Given the description of an element on the screen output the (x, y) to click on. 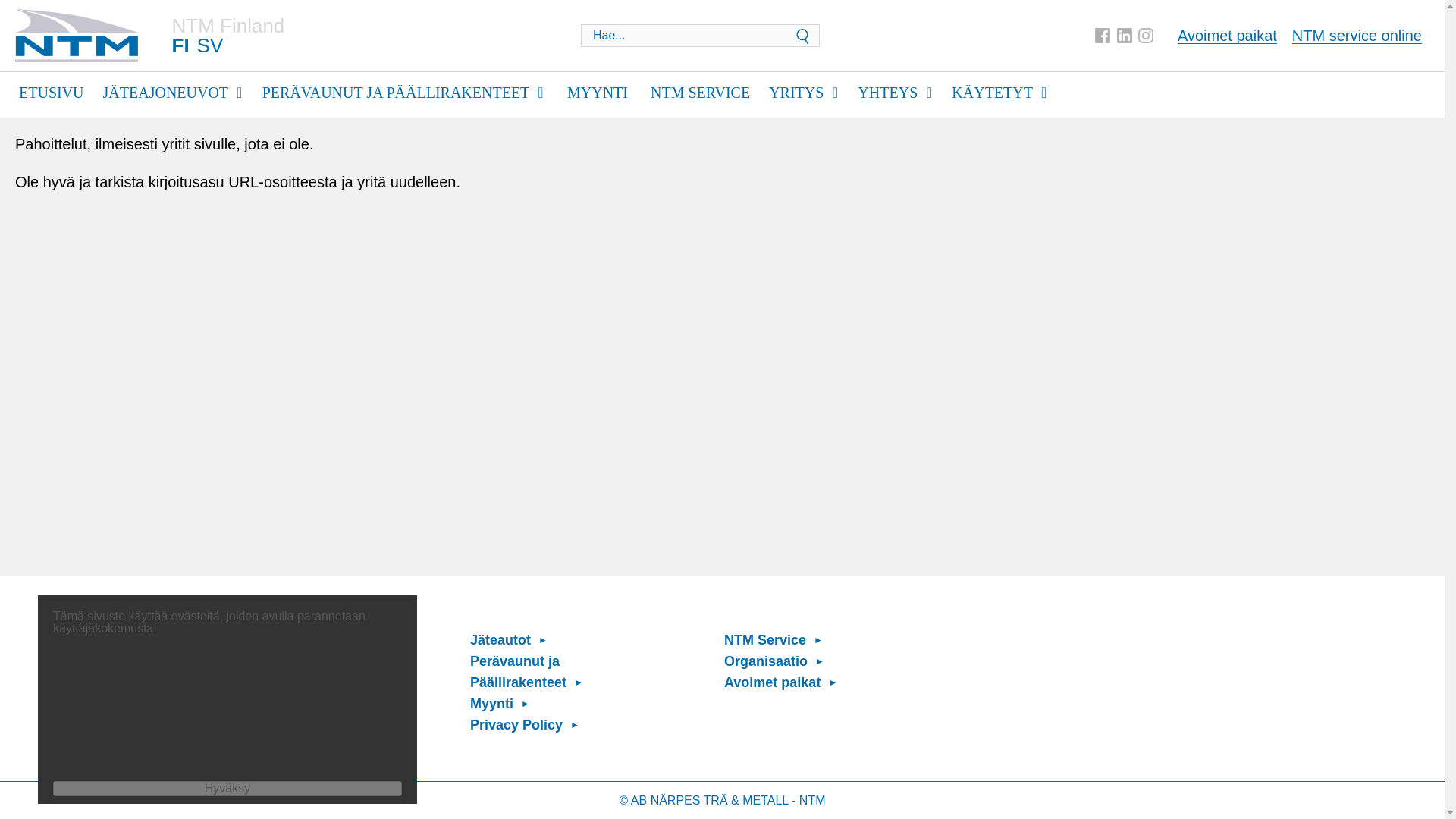
NTM service online (1357, 35)
SV (210, 45)
NTM SERVICE (700, 90)
ETUSIVU (50, 90)
MYYNTI (597, 90)
SV (210, 45)
Avoimet paikat (1226, 35)
